Given the description of an element on the screen output the (x, y) to click on. 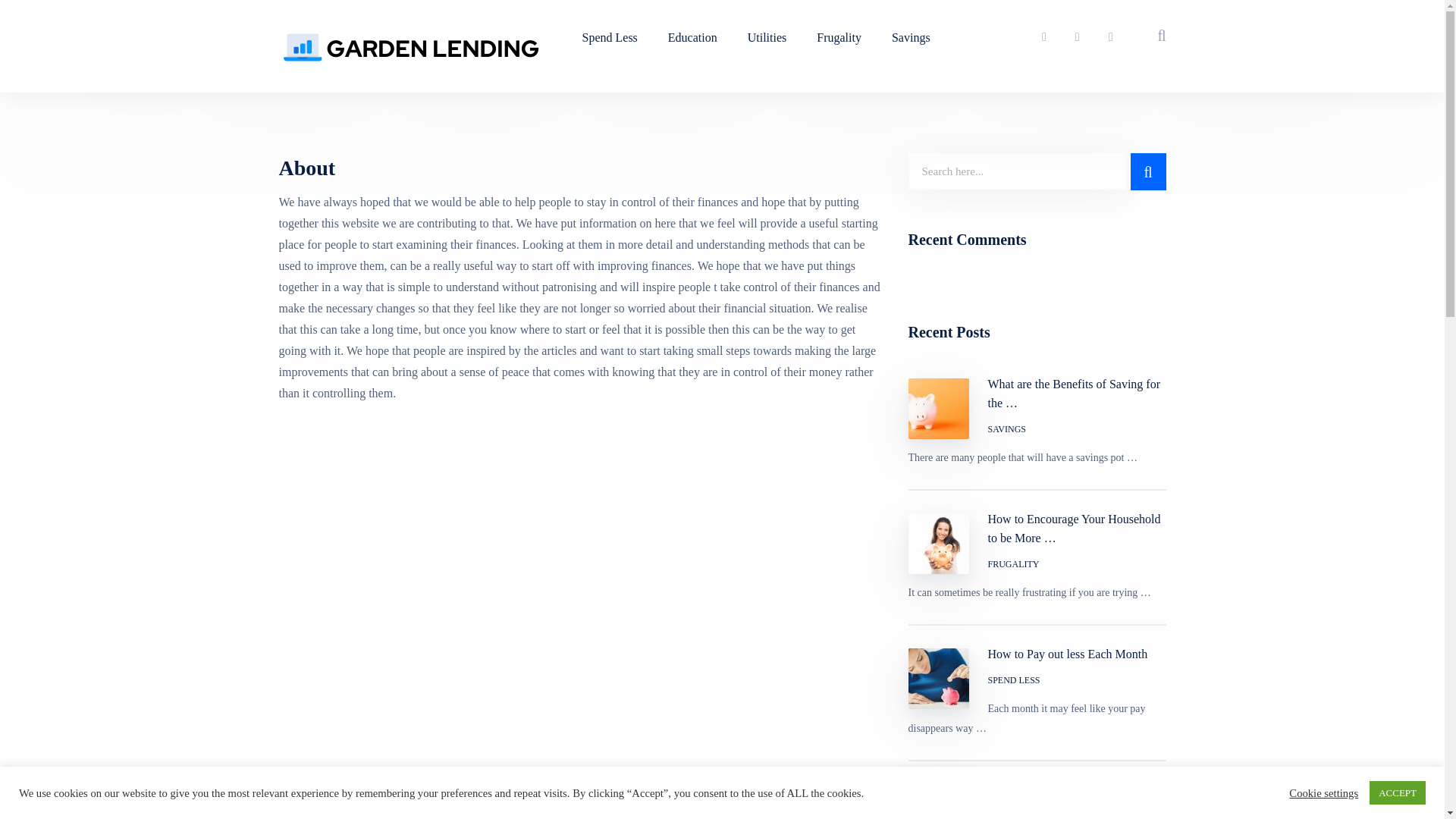
Frugality (839, 37)
Utilities (767, 37)
SAVINGS (1007, 429)
What are the Benefits of Saving for the Future? (1037, 393)
Savings (910, 37)
View all posts in Spend Less (1014, 680)
Spend Less (609, 37)
FRUGALITY (1013, 564)
Education (692, 37)
View all posts in Savings (1007, 429)
View all posts in Frugality (1013, 564)
SPEND LESS (1014, 680)
How to Pay out less Each Month (1037, 653)
How to Pay out less Each Month (1037, 653)
How to Choose a Good Utility Company (1037, 799)
